Given the description of an element on the screen output the (x, y) to click on. 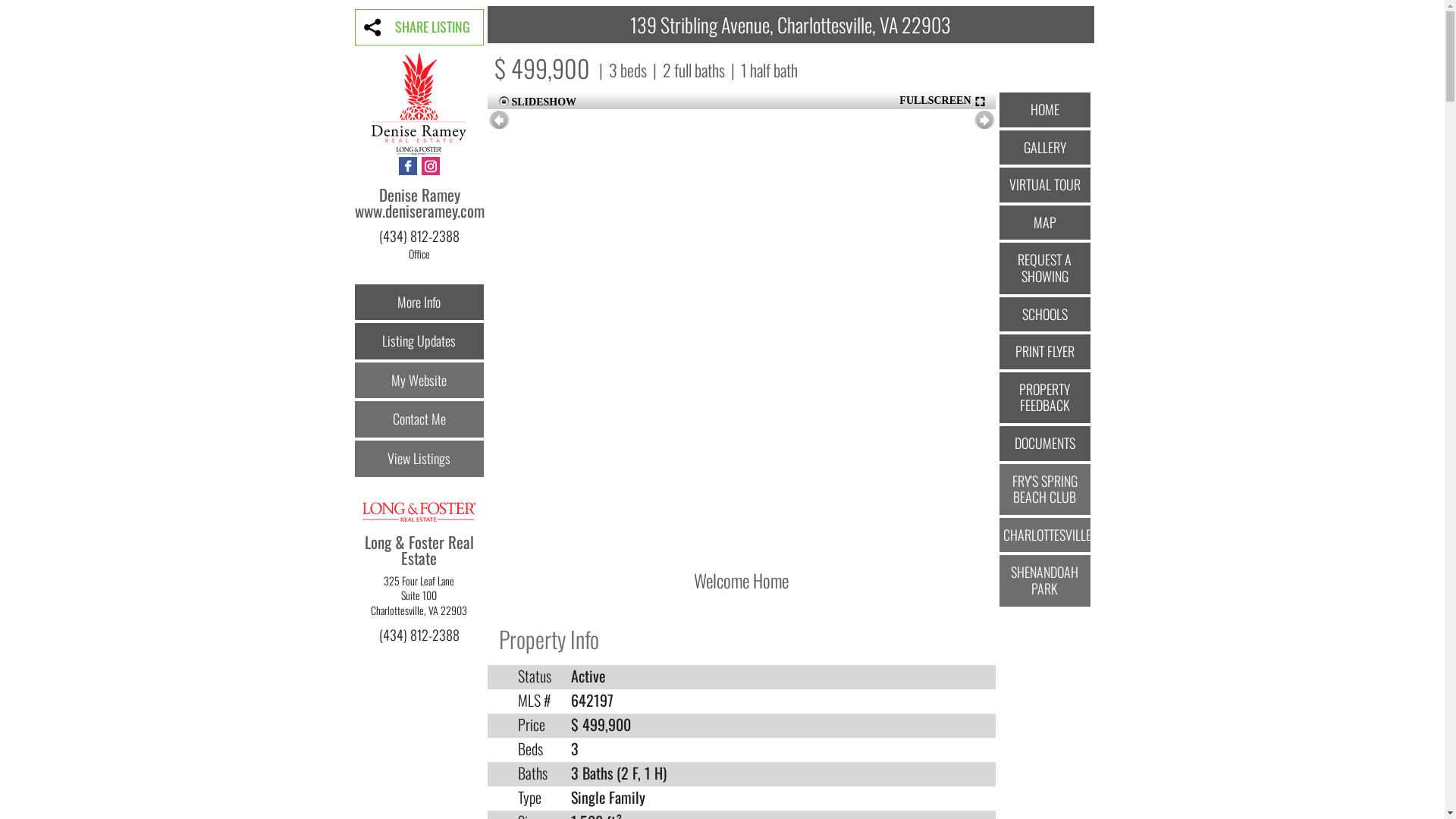
SHENANDOAH PARK Element type: text (1044, 580)
SCHOOLS Element type: text (1044, 314)
CHARLOTTESVILLE Element type: text (1044, 534)
More Info Element type: text (418, 302)
DOCUMENTS Element type: text (1044, 443)
HOME Element type: text (1044, 109)
VIRTUAL TOUR Element type: text (1044, 184)
GALLERY Element type: text (1044, 147)
Contact Me Element type: text (418, 419)
FRY'S SPRING BEACH CLUB Element type: text (1044, 489)
My Website Element type: text (418, 380)
SHARE LISTING Element type: text (418, 27)
MAP Element type: text (1044, 222)
Long & Foster Real Estate Element type: text (418, 557)
Listing Updates Element type: text (418, 341)
PROPERTY FEEDBACK Element type: text (1044, 397)
REQUEST A SHOWING Element type: text (1044, 267)
View Listings Element type: text (418, 458)
PRINT FLYER Element type: text (1044, 351)
Denise Ramey
www.deniseramey.com Element type: text (419, 210)
